Given the description of an element on the screen output the (x, y) to click on. 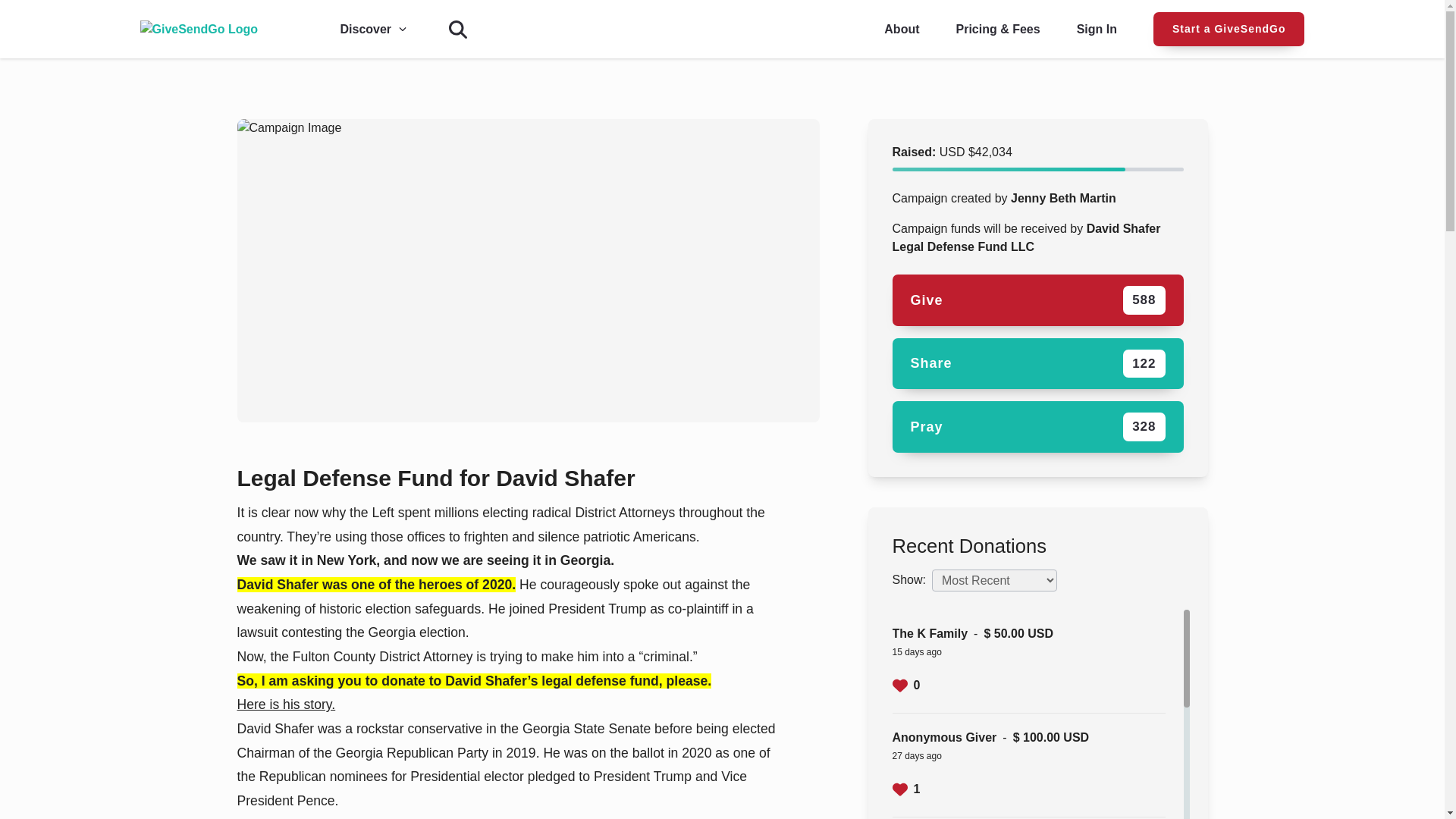
About (900, 28)
Sign In (1036, 426)
Discover (1096, 28)
0 (365, 29)
1 (905, 685)
Start a GiveSendGo (905, 789)
